Given the description of an element on the screen output the (x, y) to click on. 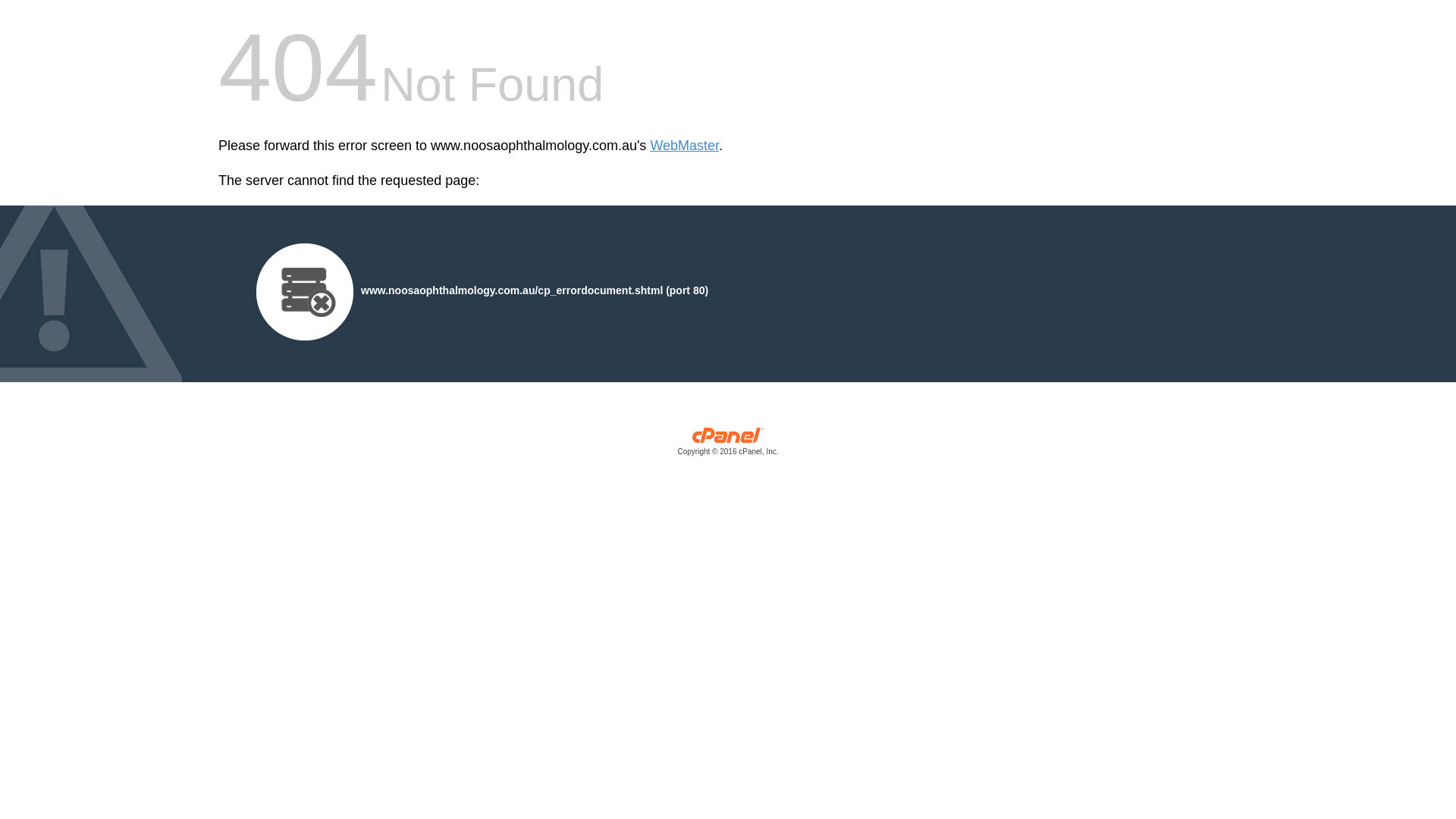
WebMaster Element type: text (683, 145)
